Given the description of an element on the screen output the (x, y) to click on. 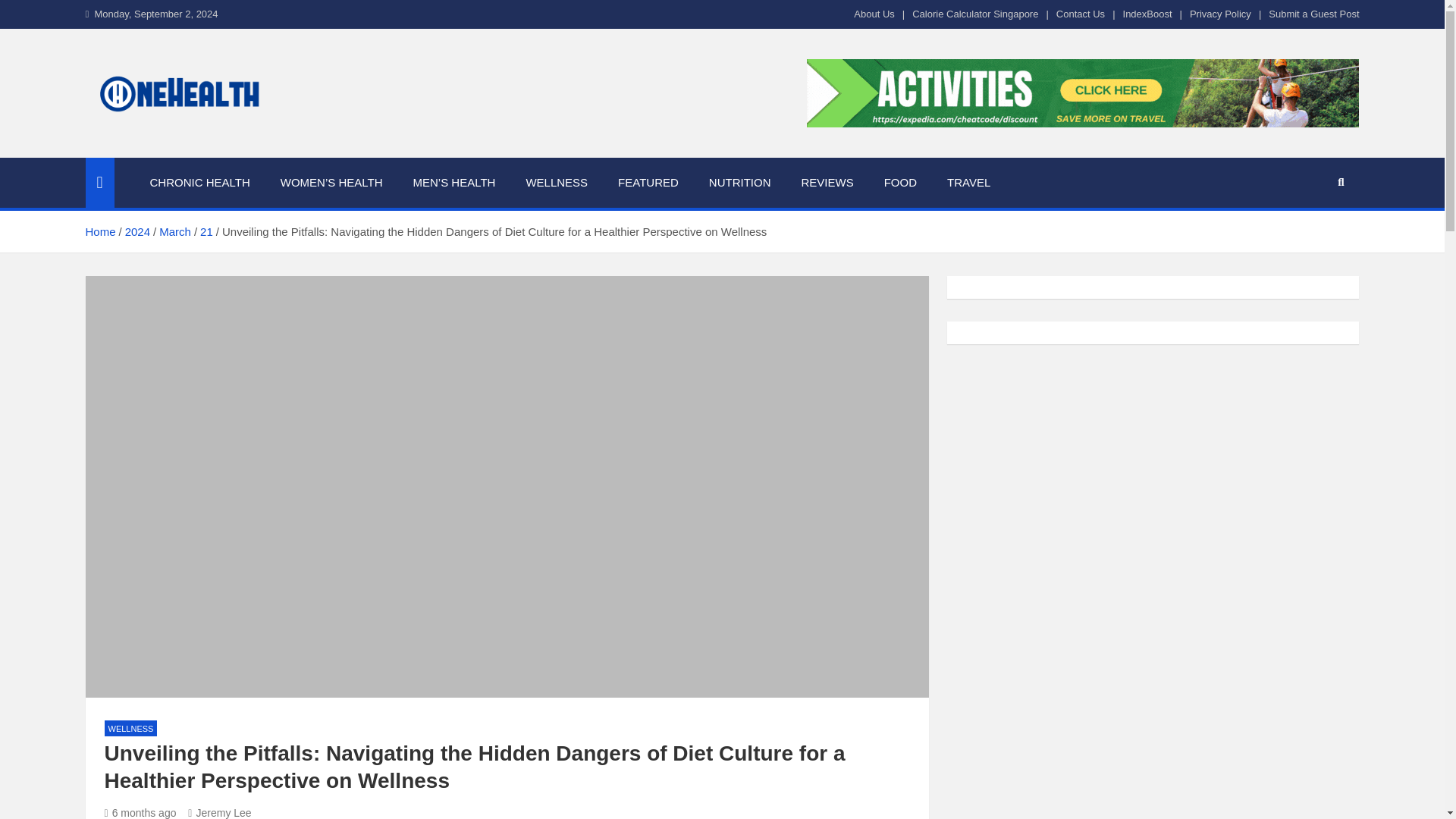
TRAVEL (968, 183)
Jeremy Lee (218, 812)
March (174, 231)
Contact Us (1081, 13)
REVIEWS (826, 183)
FOOD (900, 183)
About Us (873, 13)
6 months ago (140, 812)
21 (206, 231)
